Given the description of an element on the screen output the (x, y) to click on. 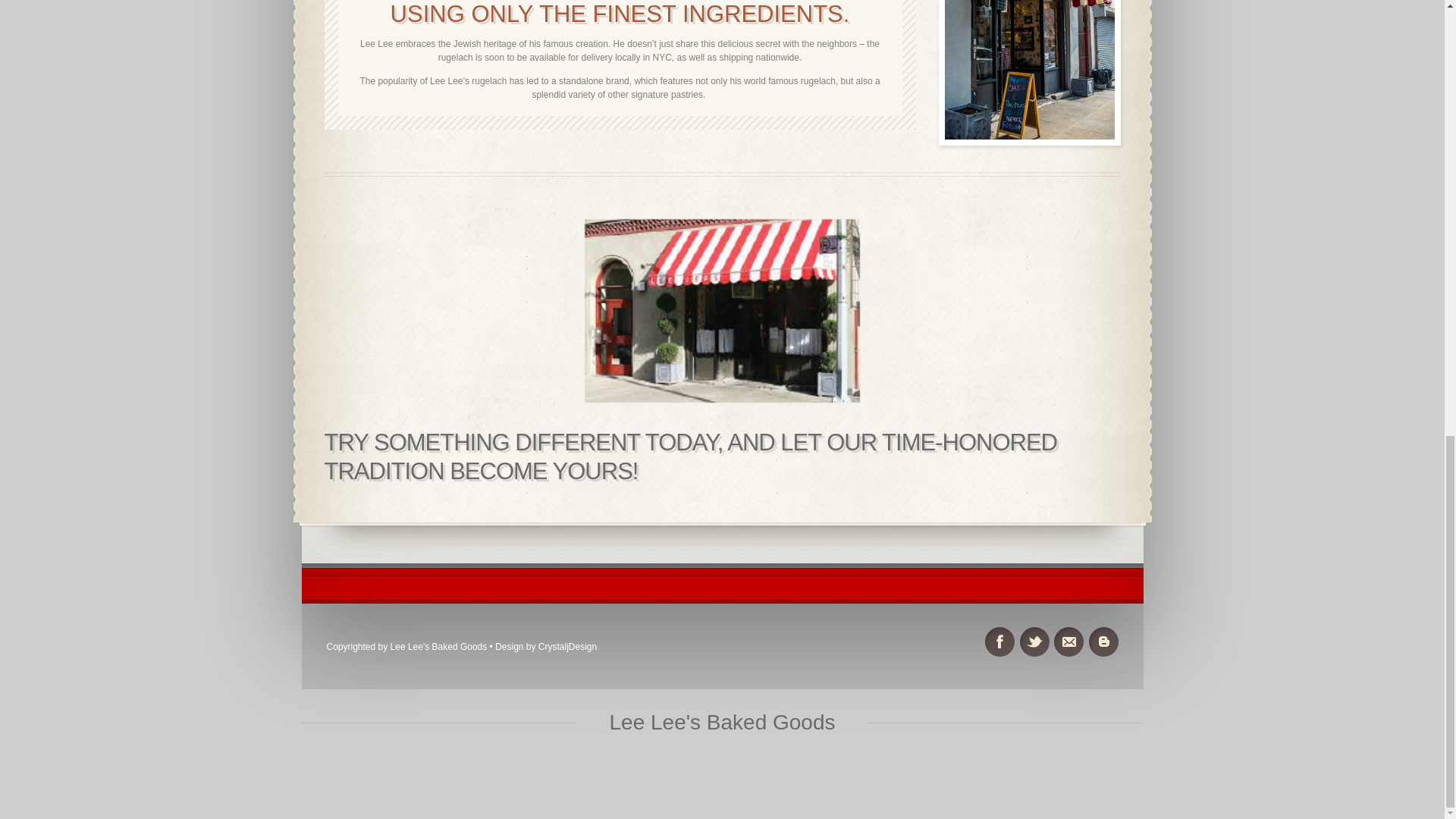
CrystaljDesign (567, 646)
Lee Lee's Baked Goods (721, 722)
